Given the description of an element on the screen output the (x, y) to click on. 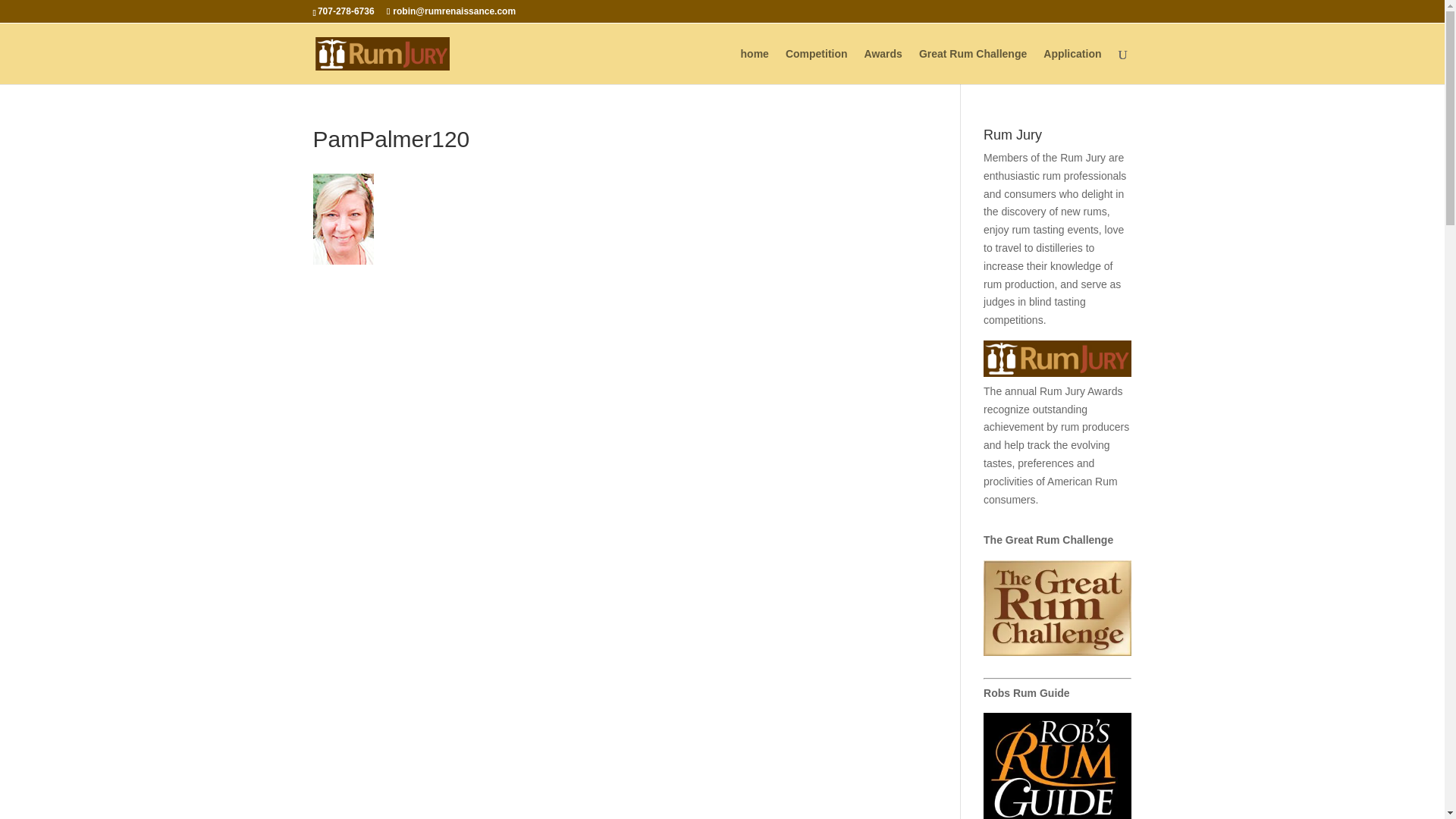
Competition (816, 66)
Great Rum Challenge (972, 66)
home (754, 66)
Awards (883, 66)
Application (1071, 66)
